Given the description of an element on the screen output the (x, y) to click on. 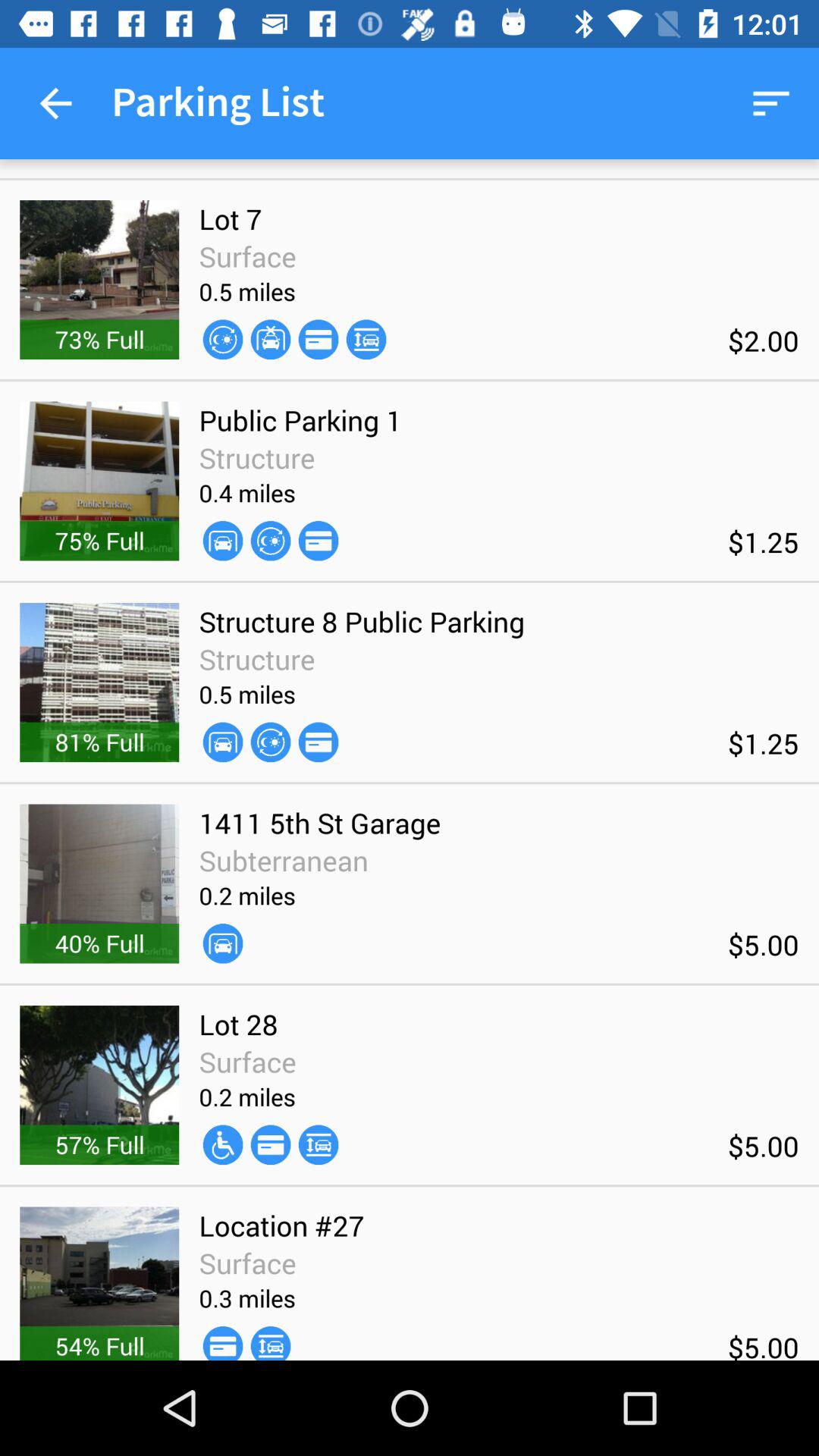
select icon above the location #27 (270, 1144)
